Given the description of an element on the screen output the (x, y) to click on. 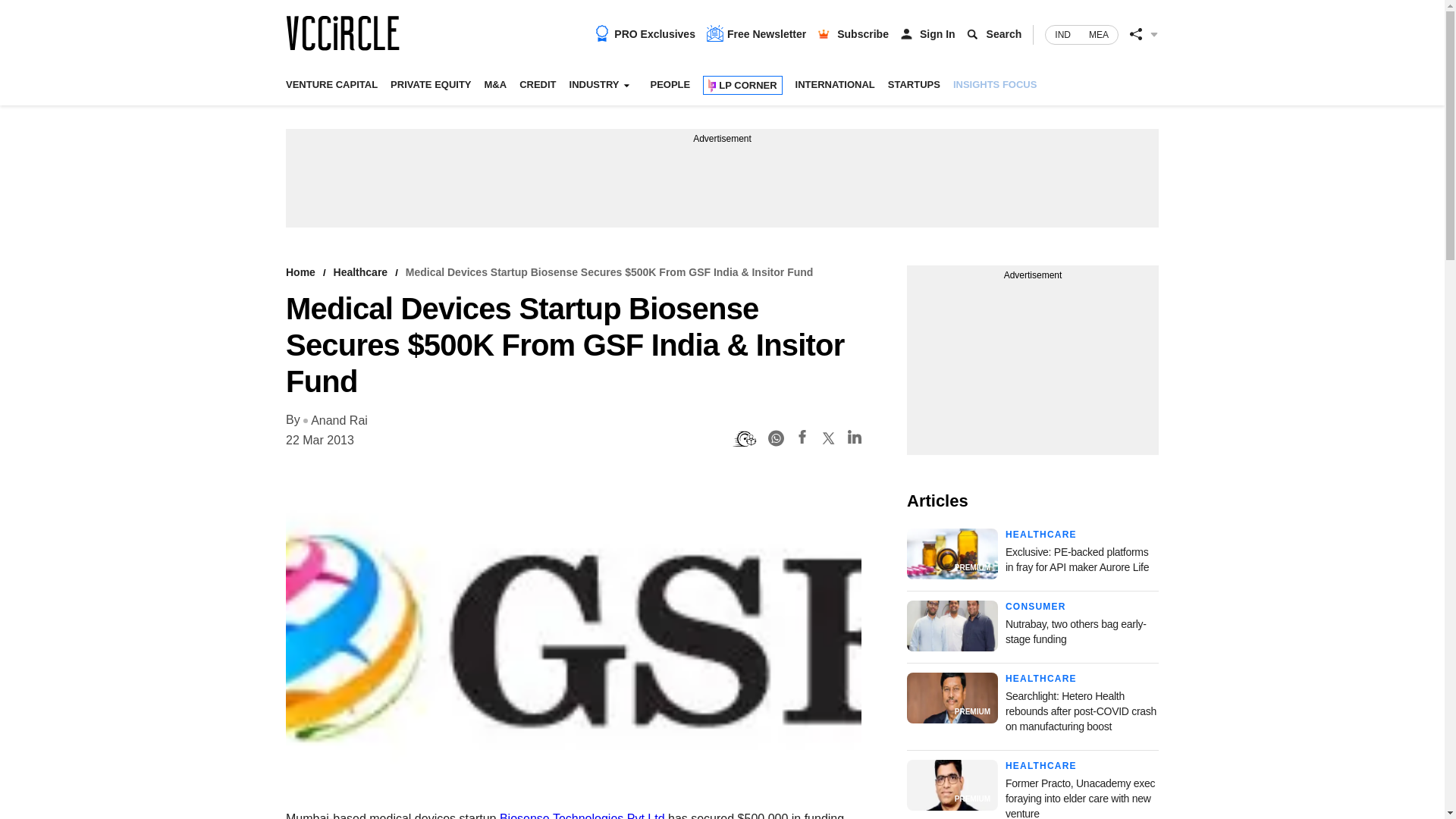
Healthcare (360, 272)
MEA (1099, 34)
Stay Home. Read Quality News (341, 32)
INSIGHTS FOCUS (994, 91)
Anand Rai (335, 420)
STARTUPS (914, 91)
PRIVATE EQUITY (430, 91)
Search (1004, 33)
INDUSTRY (599, 86)
Subscribe (862, 33)
